Given the description of an element on the screen output the (x, y) to click on. 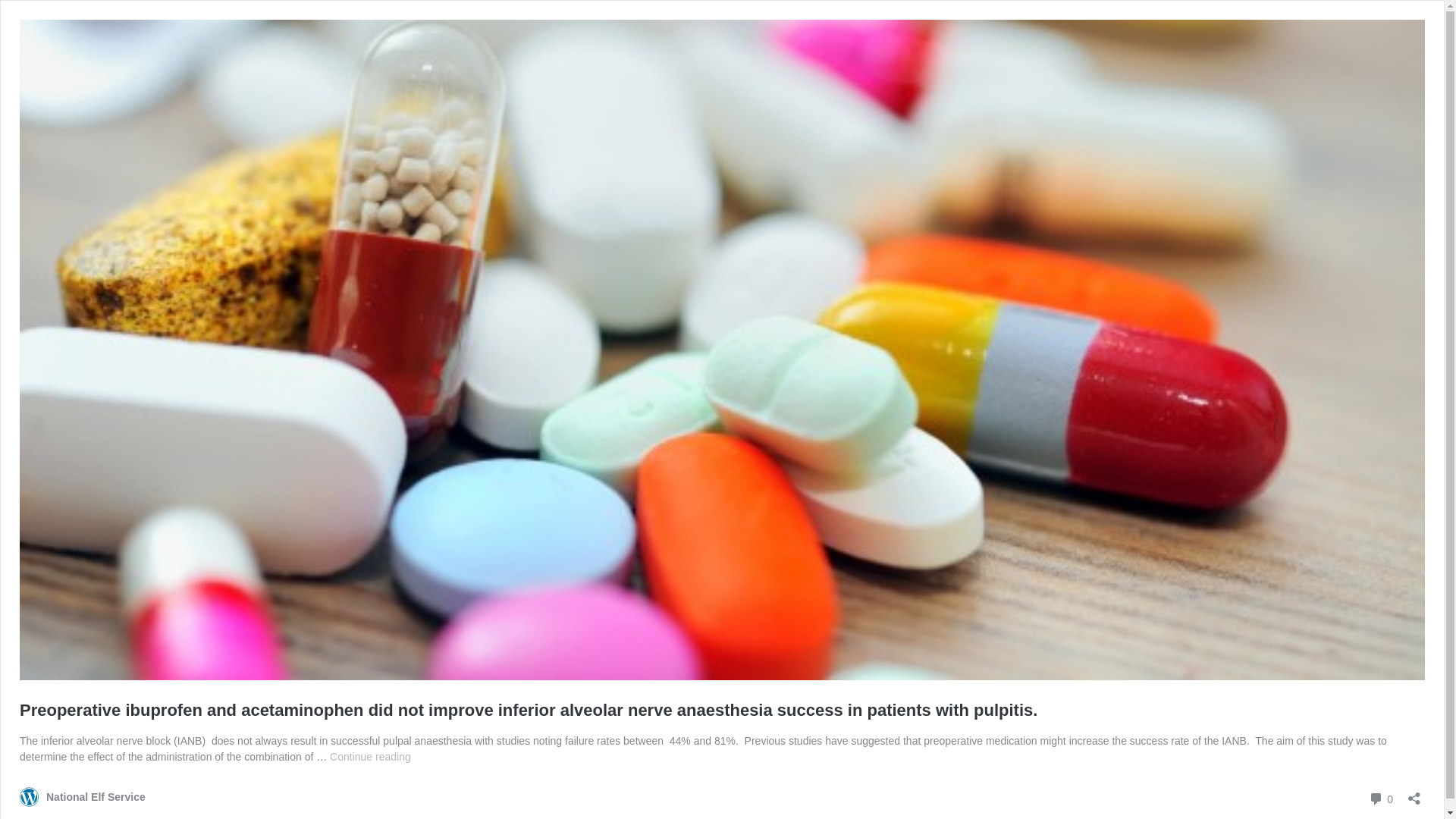
National Elf Service (82, 796)
